Given the description of an element on the screen output the (x, y) to click on. 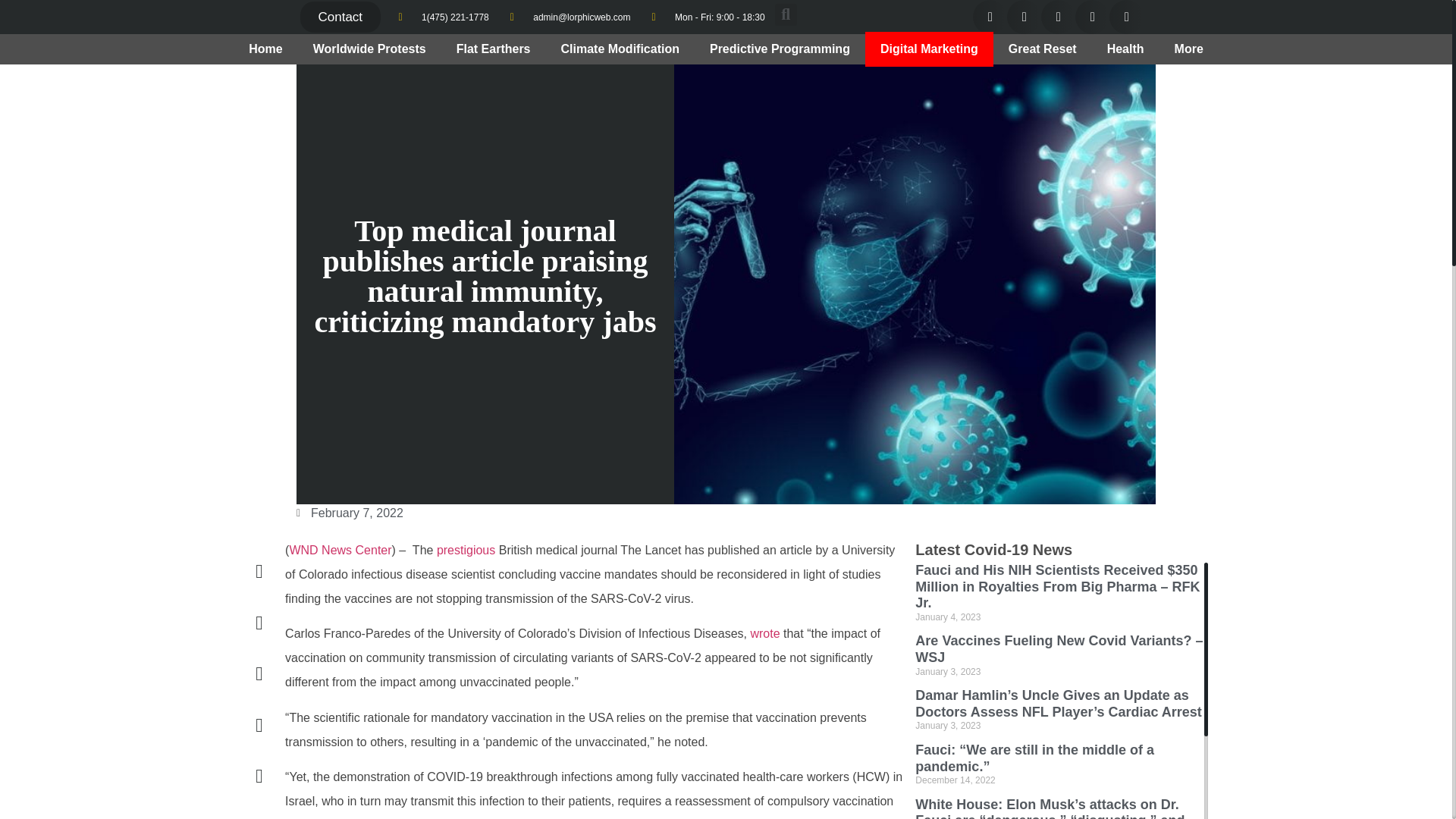
Health (1125, 48)
Predictive Programming (779, 48)
Home (264, 48)
Digital Marketing (928, 48)
Contact (340, 16)
Worldwide Protests (369, 48)
Great Reset (1042, 48)
Flat Earthers (493, 48)
More (1188, 48)
Climate Modification (620, 48)
